Given the description of an element on the screen output the (x, y) to click on. 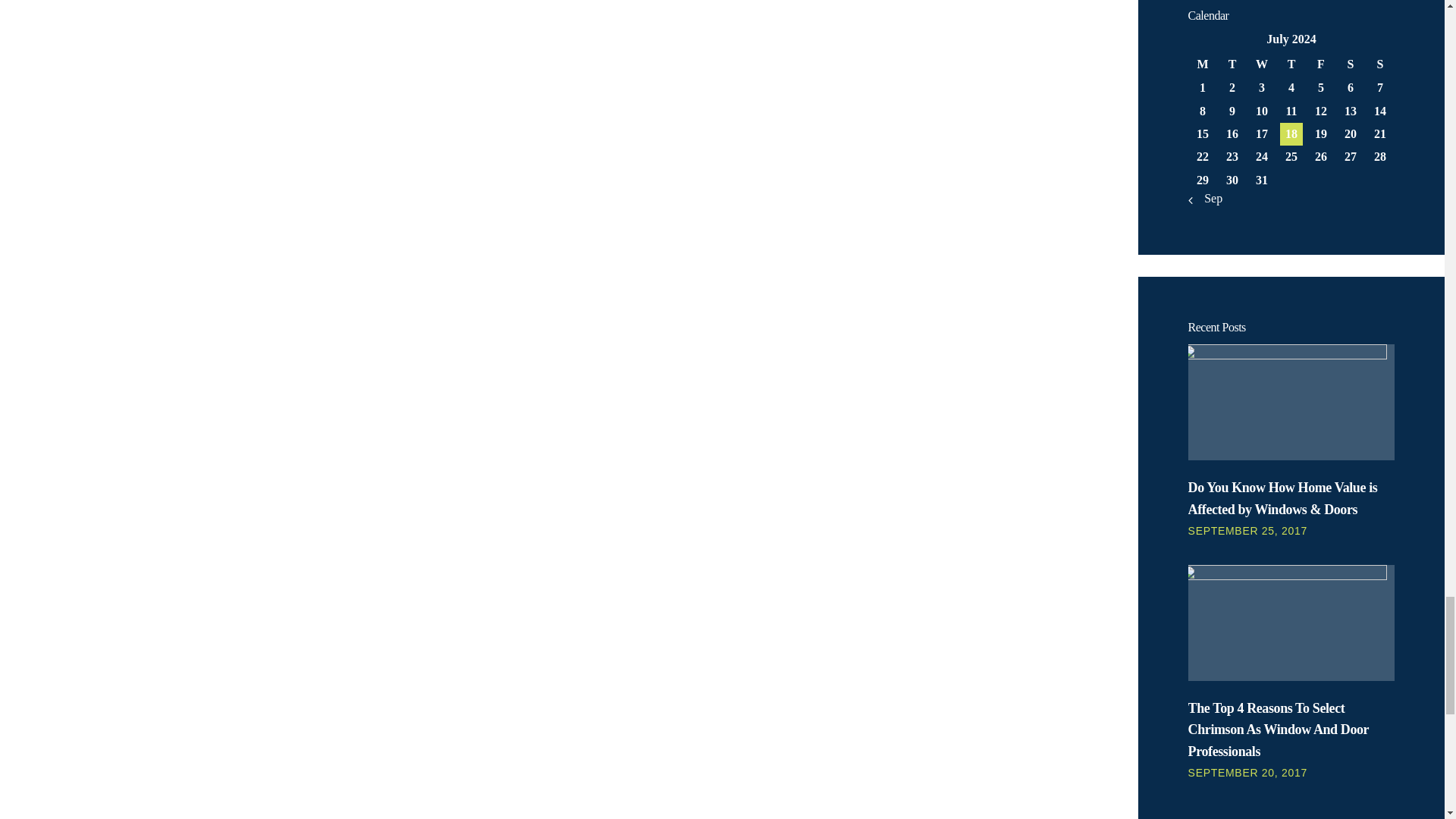
Saturday (1350, 64)
Tuesday (1232, 64)
Thursday (1291, 64)
Monday (1202, 64)
Friday (1320, 64)
Wednesday (1261, 64)
Sunday (1379, 64)
